Given the description of an element on the screen output the (x, y) to click on. 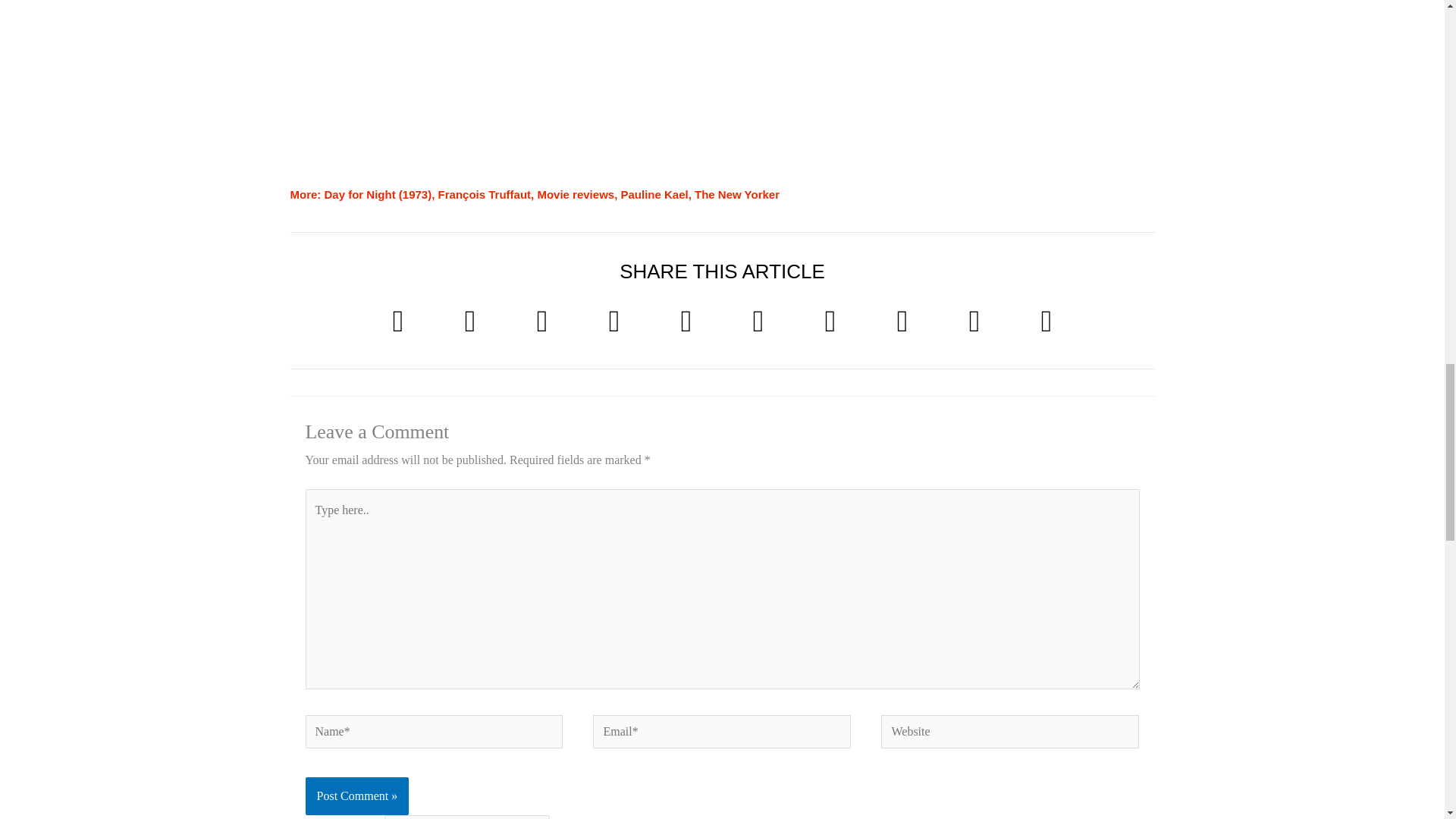
7.3.6 (467, 816)
